Given the description of an element on the screen output the (x, y) to click on. 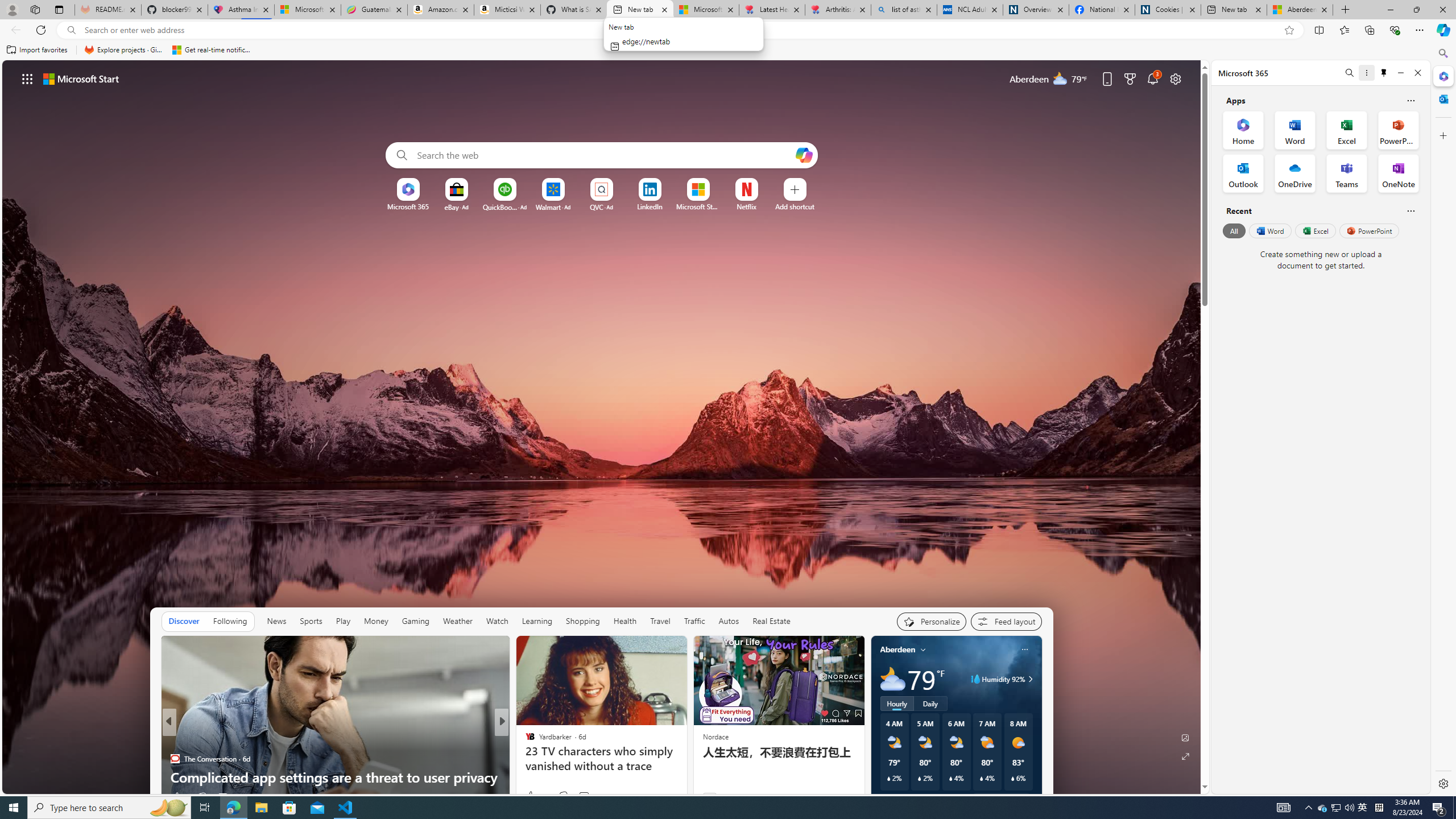
Watch (497, 621)
View comments 16 Comment (576, 797)
Mostly cloudy (892, 678)
Money (376, 621)
2 Like (178, 796)
Shopping (582, 621)
Microsoft start (81, 78)
Autos (728, 621)
Microsoft rewards (1129, 78)
My location (922, 649)
